Given the description of an element on the screen output the (x, y) to click on. 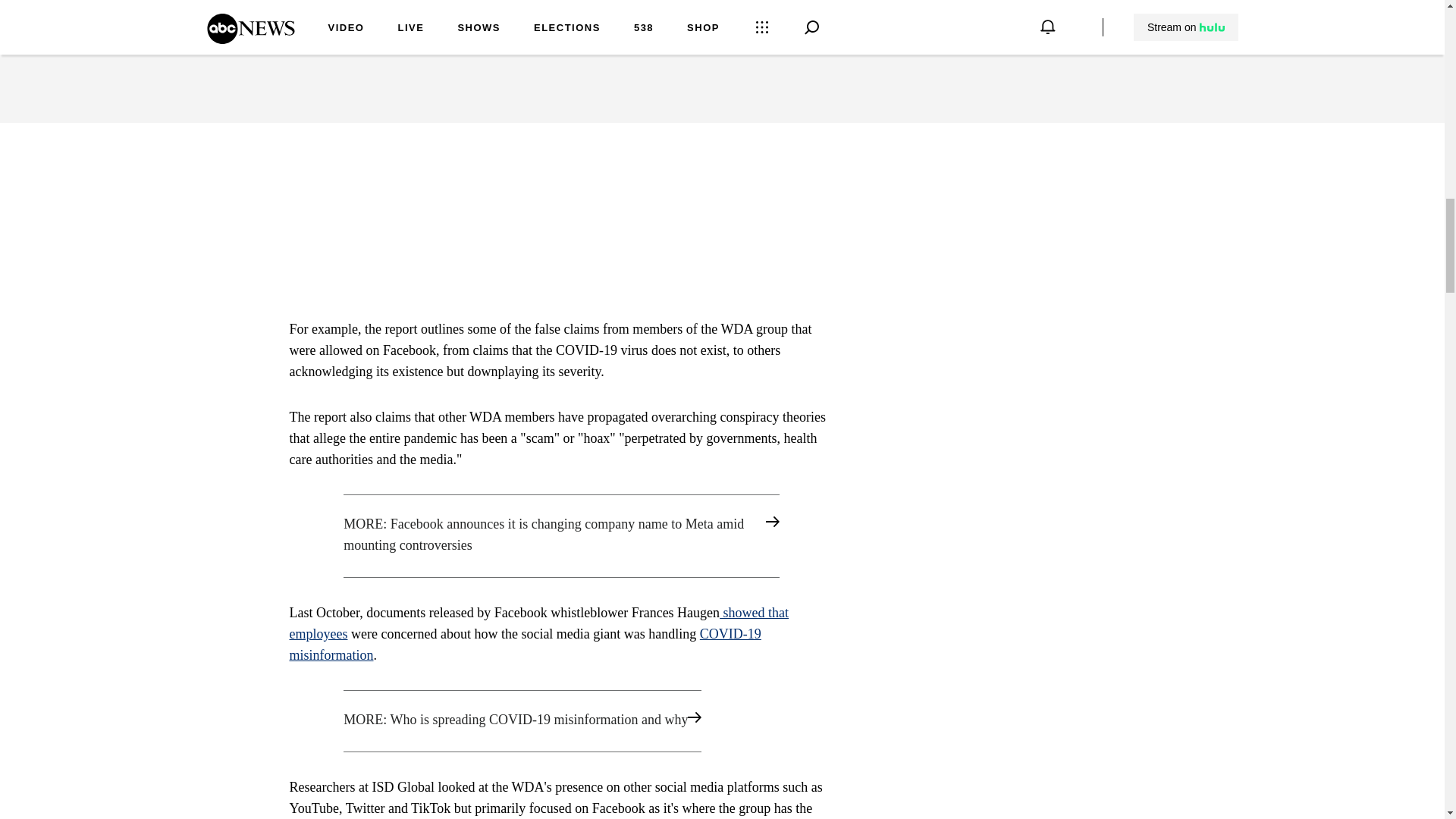
showed that employees (539, 623)
MORE: Who is spreading COVID-19 misinformation and why (560, 721)
COVID-19 misinformation (525, 644)
